Given the description of an element on the screen output the (x, y) to click on. 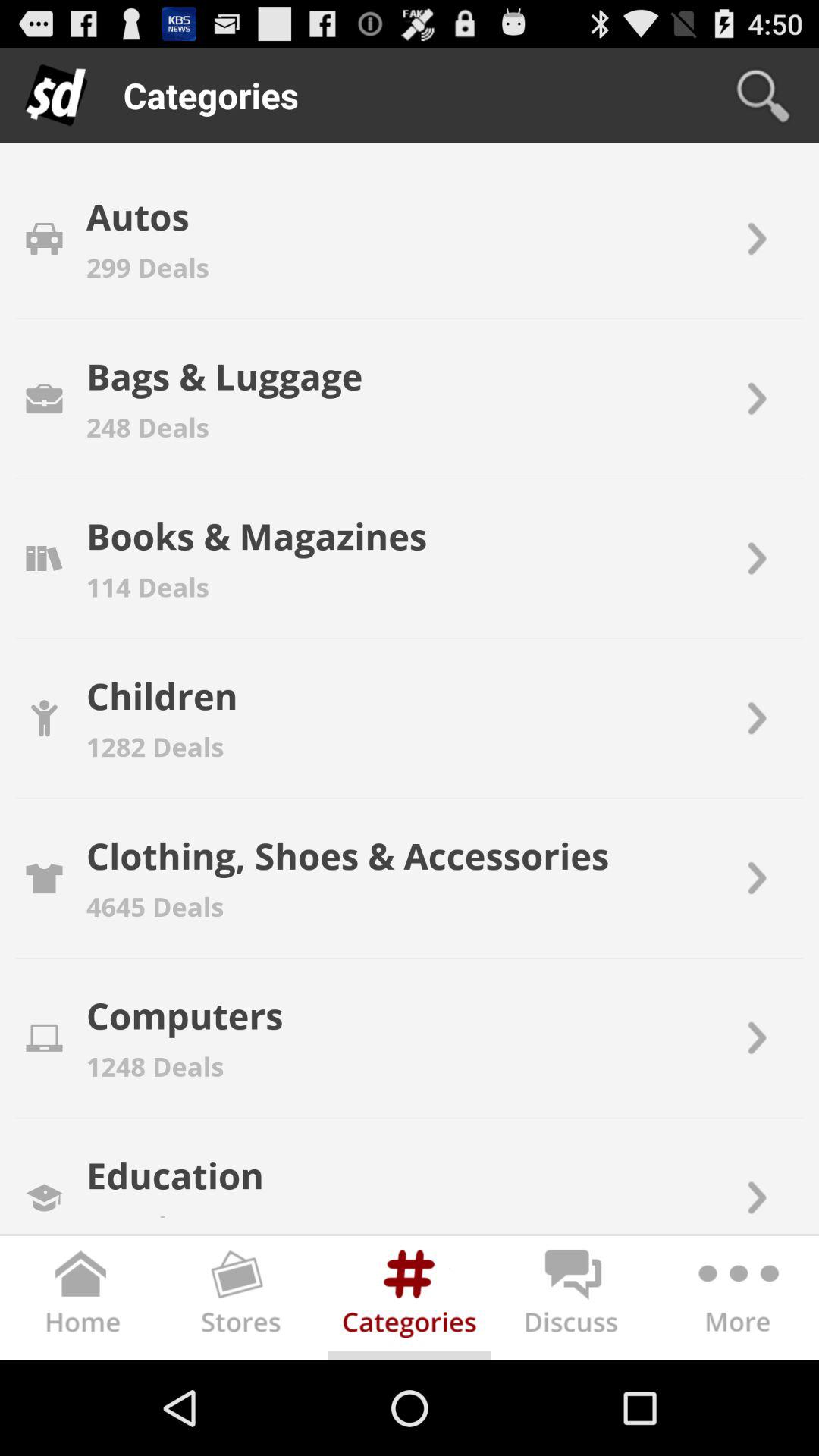
click icon below the 114 deals (161, 695)
